Given the description of an element on the screen output the (x, y) to click on. 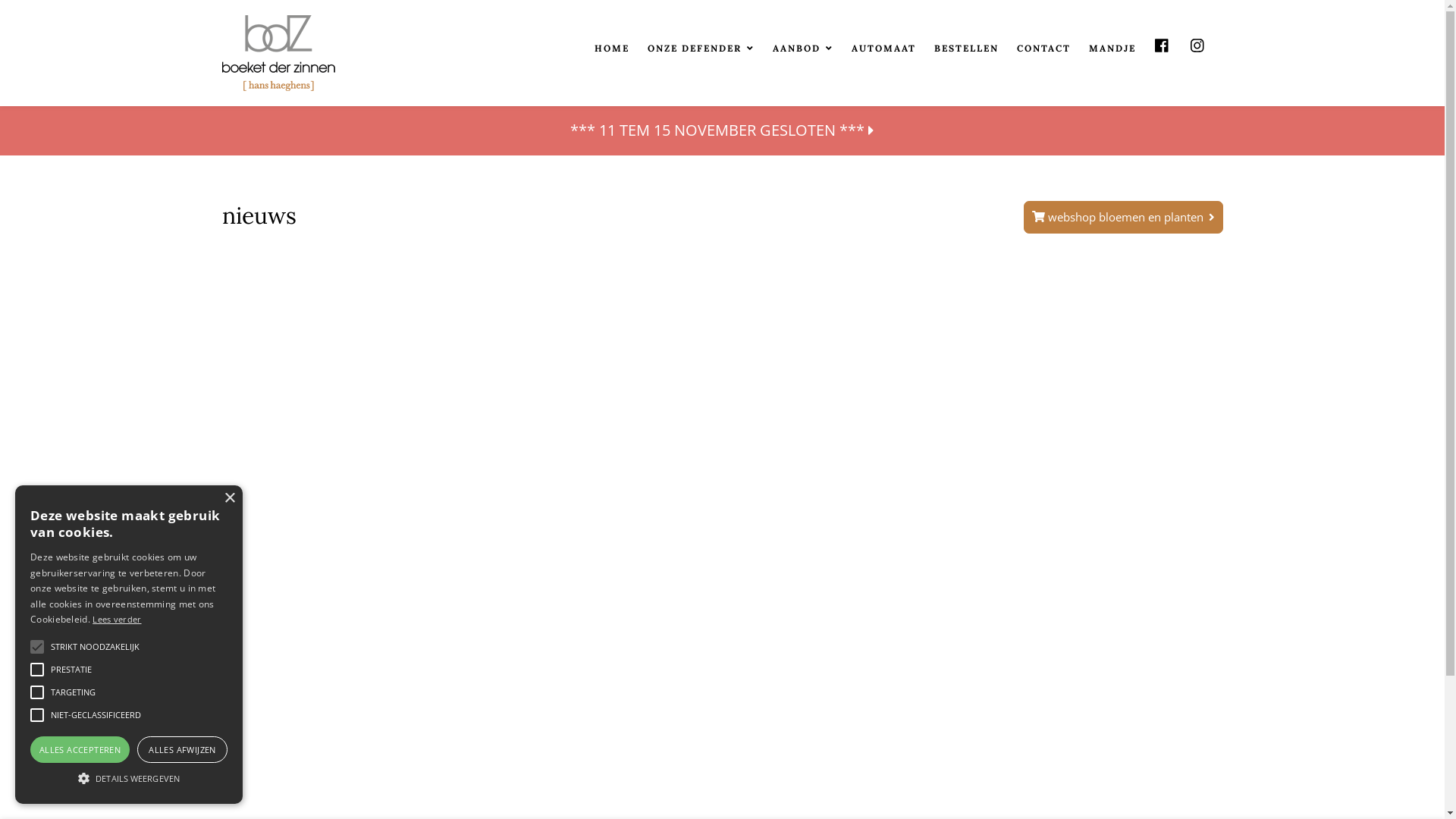
Lees verder Element type: text (116, 618)
webshop bloemen en planten Element type: text (1123, 216)
*** 11 TEM 15 NOVEMBER GESLOTEN *** Element type: text (722, 130)
AUTOMAAT Element type: text (882, 49)
ONZE DEFENDER Element type: text (700, 49)
BESTELLEN Element type: text (966, 49)
HOME Element type: text (611, 49)
AANBOD Element type: text (801, 49)
CONTACT Element type: text (1043, 49)
Boeket Der Zinnen bv Element type: hover (277, 53)
MANDJE Element type: text (1111, 49)
